Given the description of an element on the screen output the (x, y) to click on. 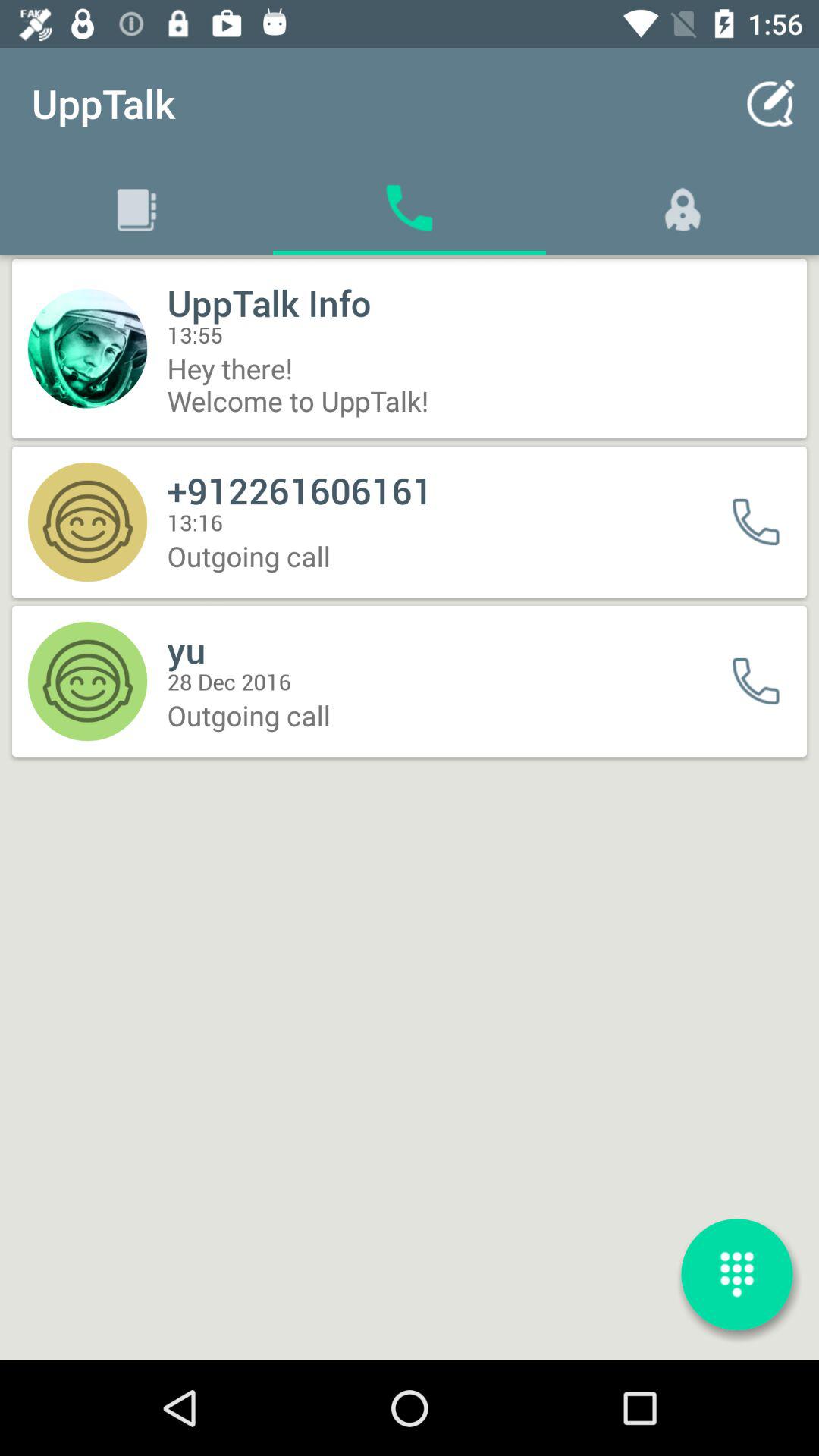
click to call (765, 521)
